Given the description of an element on the screen output the (x, y) to click on. 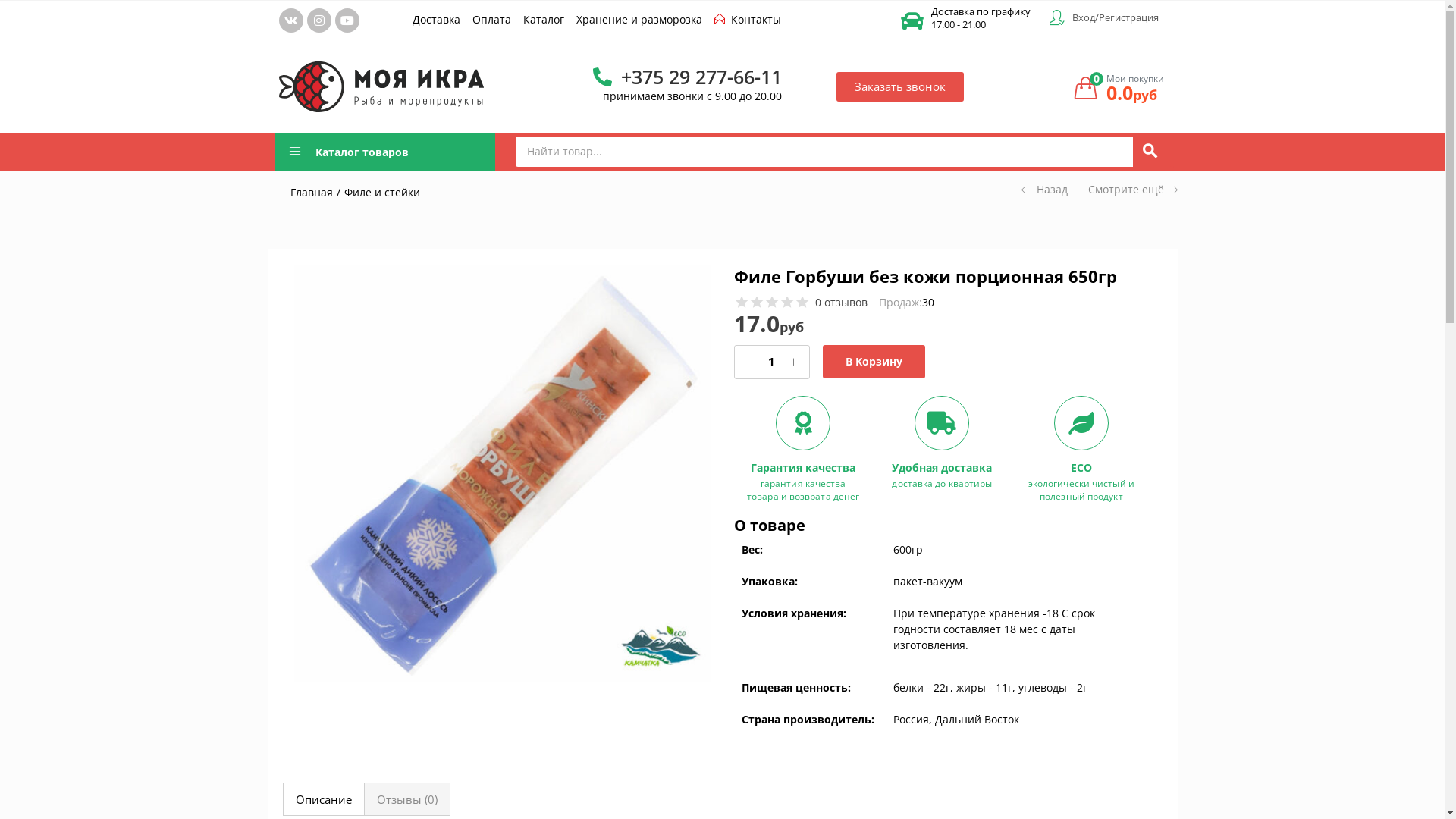
logo2 Element type: hover (381, 86)
+375 29 277-66-11 Element type: text (687, 76)
